Given the description of an element on the screen output the (x, y) to click on. 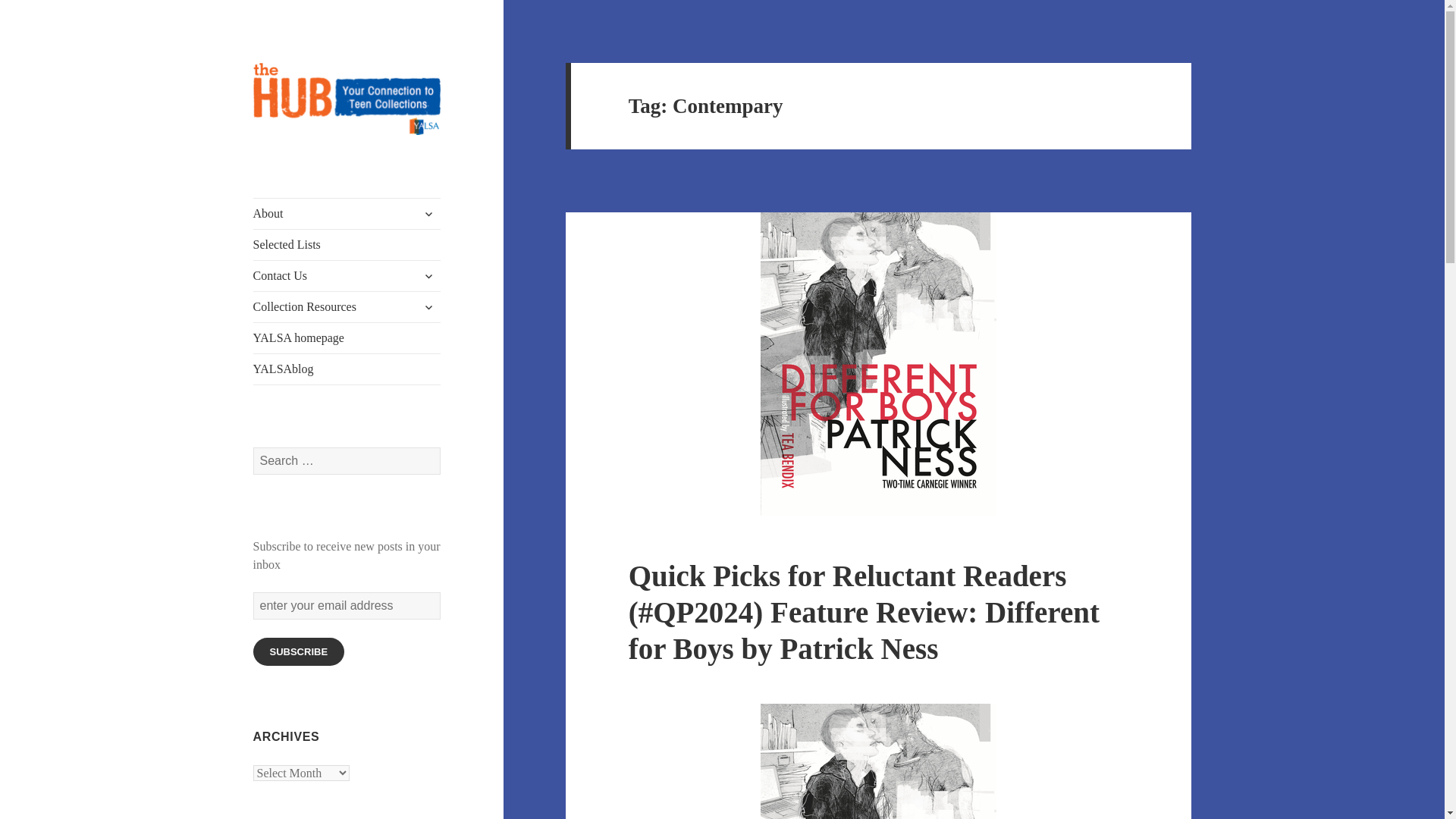
About (347, 214)
YALSAblog (347, 368)
expand child menu (428, 306)
Selected Lists (347, 245)
YALSA homepage (347, 337)
expand child menu (428, 213)
Collection Resources (347, 306)
The Hub (293, 159)
expand child menu (428, 275)
Contact Us (347, 276)
SUBSCRIBE (299, 651)
